Given the description of an element on the screen output the (x, y) to click on. 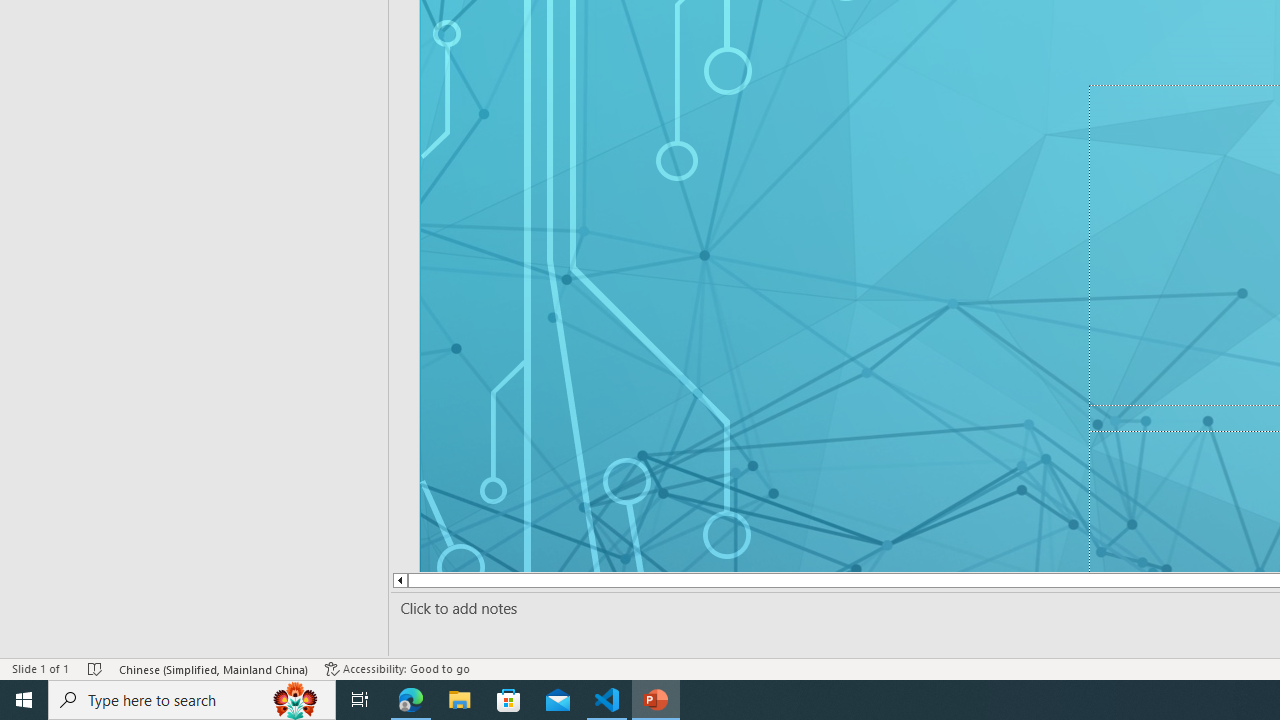
Accessibility Checker Accessibility: Good to go (397, 668)
